Given the description of an element on the screen output the (x, y) to click on. 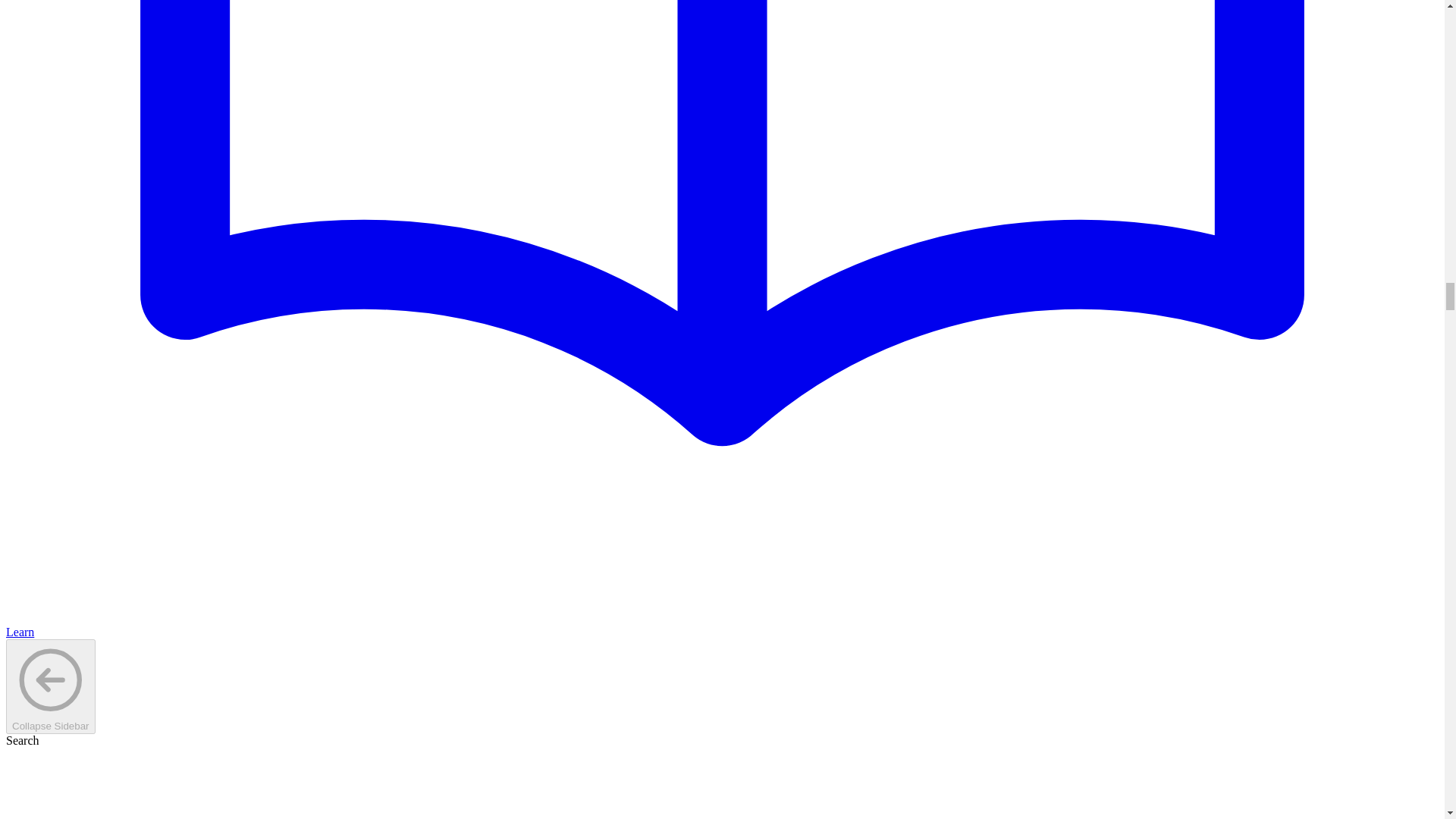
Collapse Sidebar (50, 686)
